Given the description of an element on the screen output the (x, y) to click on. 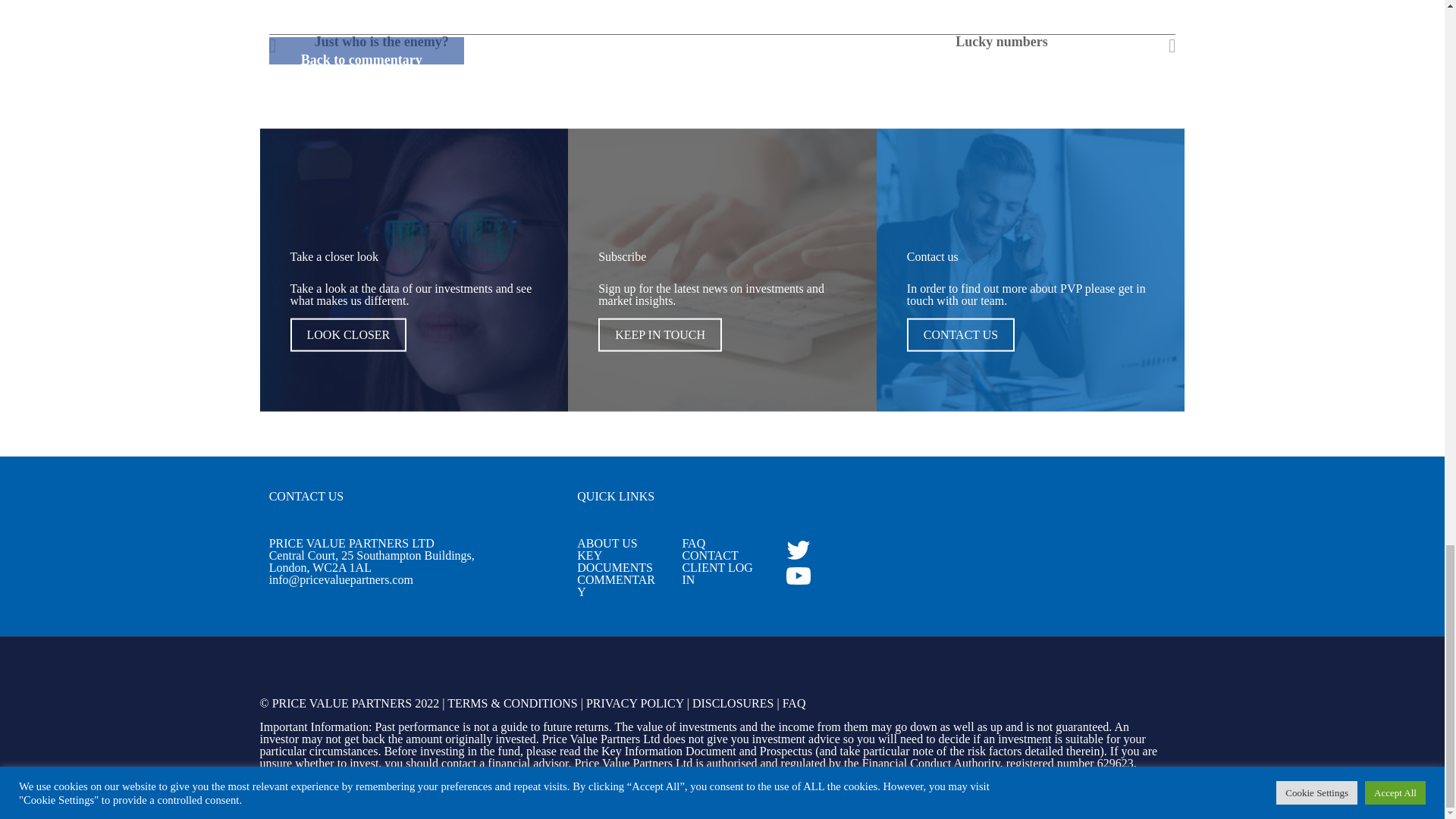
KEEP IN TOUCH (660, 335)
Back to commentary (361, 59)
FAQ (794, 703)
DISCLOSURES (733, 703)
CLIENT LOG IN (716, 573)
CONTACT (709, 554)
FAQ (692, 543)
KEY DOCUMENTS (614, 561)
CONTACT US (960, 335)
PRIVACY POLICY (635, 703)
Just who is the enemy? (401, 41)
COMMENTARY (615, 585)
LOOK CLOSER (347, 335)
Site by Flycast Media (1116, 797)
ABOUT US (606, 543)
